Given the description of an element on the screen output the (x, y) to click on. 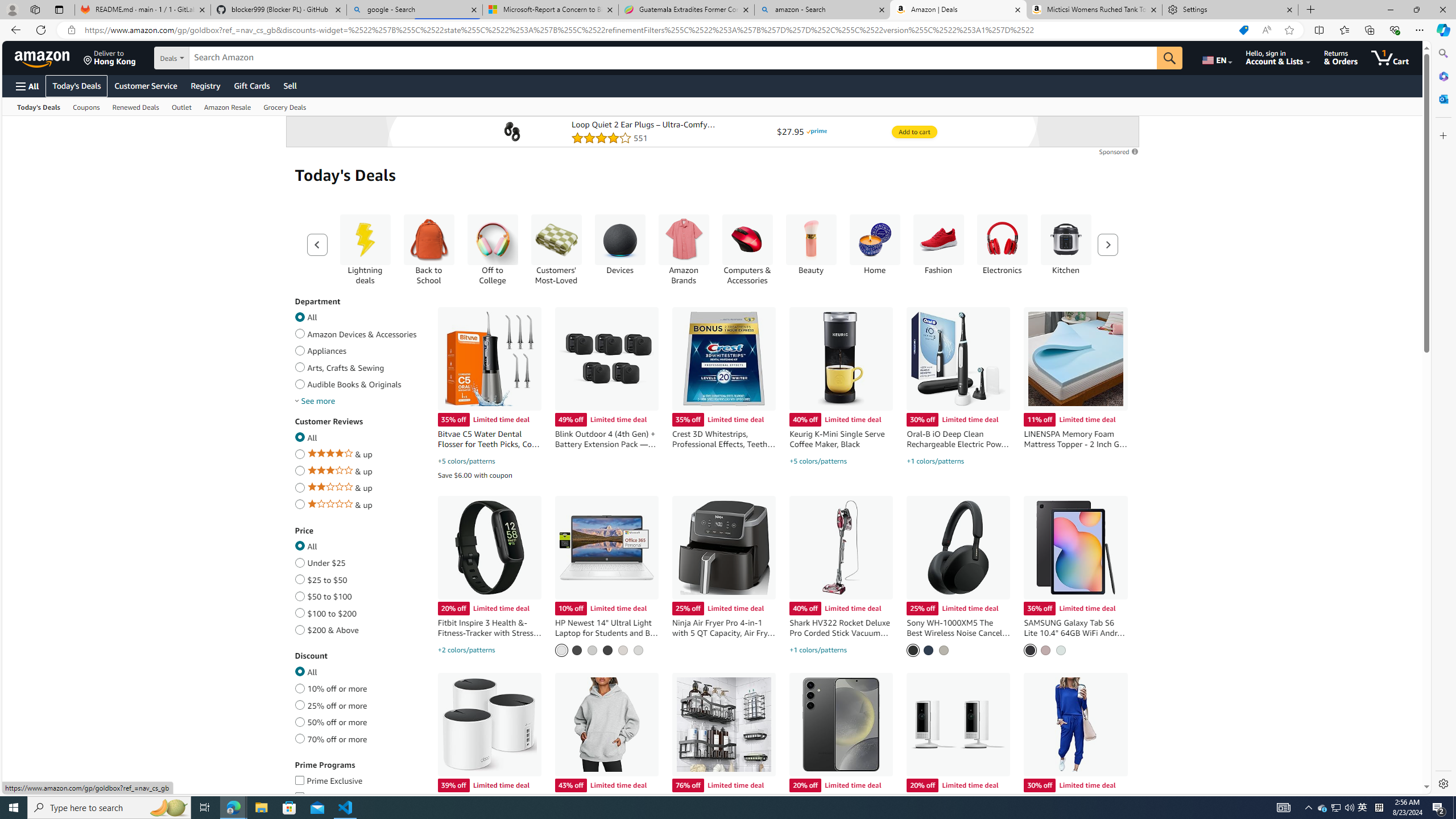
Off to College (492, 239)
Outlook (1442, 98)
Grocery Deals (285, 106)
Fashion (938, 249)
See more filter options (317, 401)
All (299, 669)
Devices (619, 249)
Home Home (874, 244)
